Given the description of an element on the screen output the (x, y) to click on. 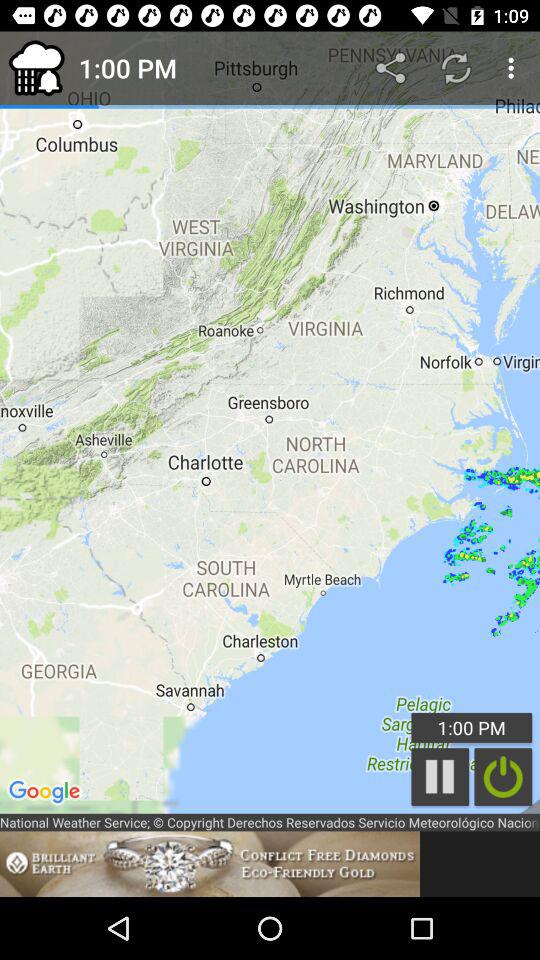
advertisement (210, 864)
